Given the description of an element on the screen output the (x, y) to click on. 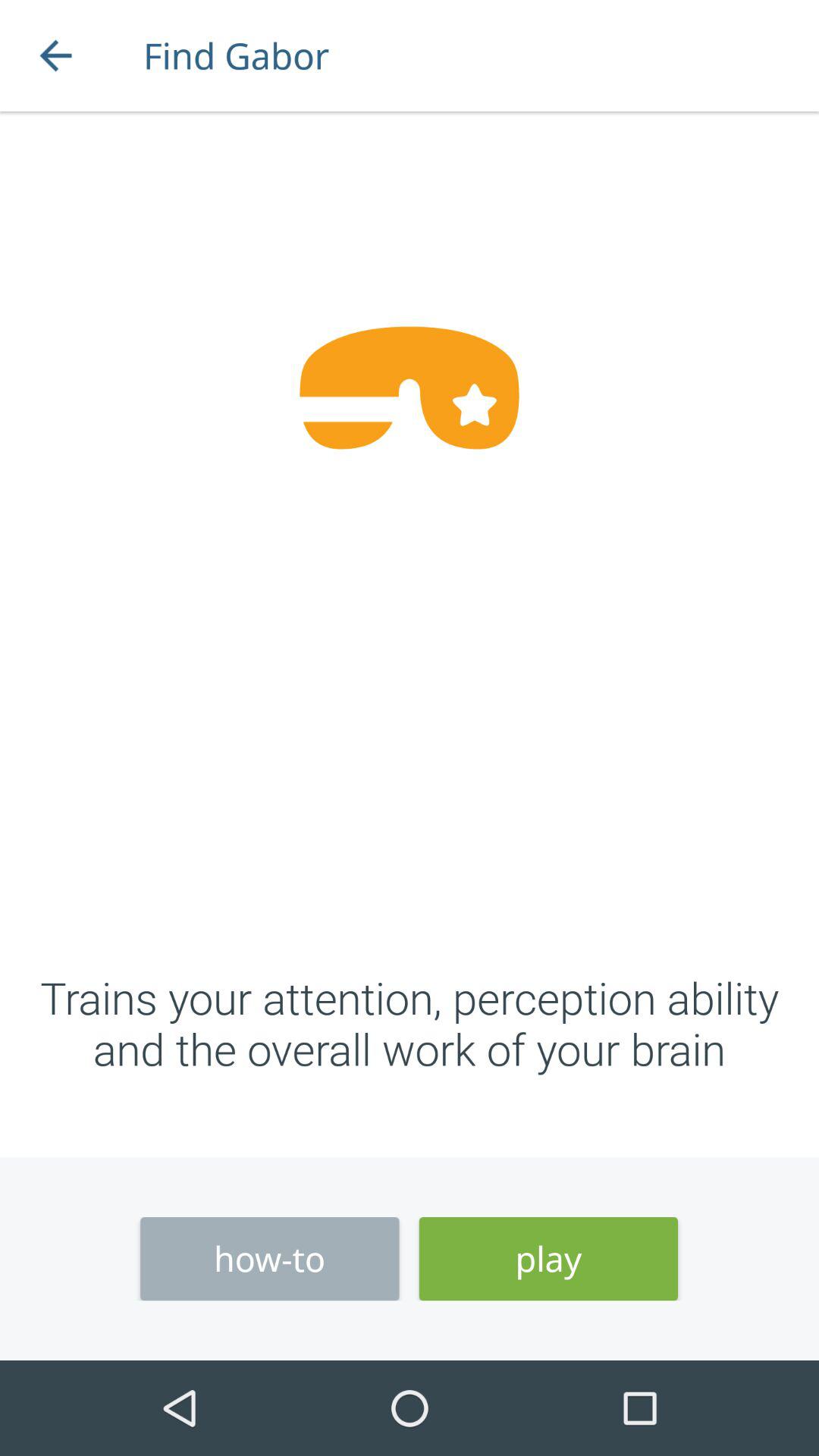
turn on item below the trains your attention (548, 1258)
